Given the description of an element on the screen output the (x, y) to click on. 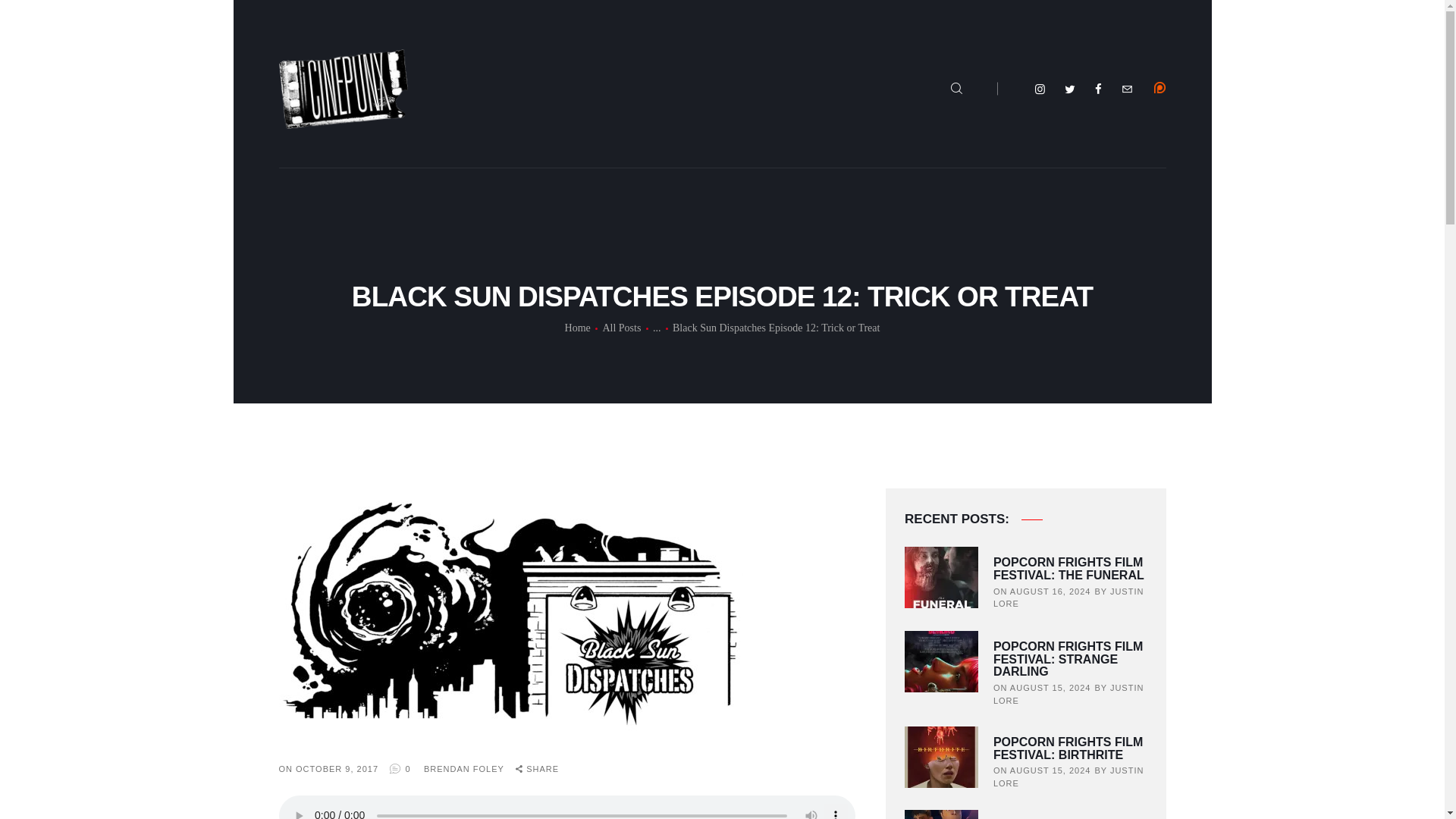
58481774cef1014c0b5e4992 (1160, 87)
All Posts (621, 327)
Home (577, 327)
